Given the description of an element on the screen output the (x, y) to click on. 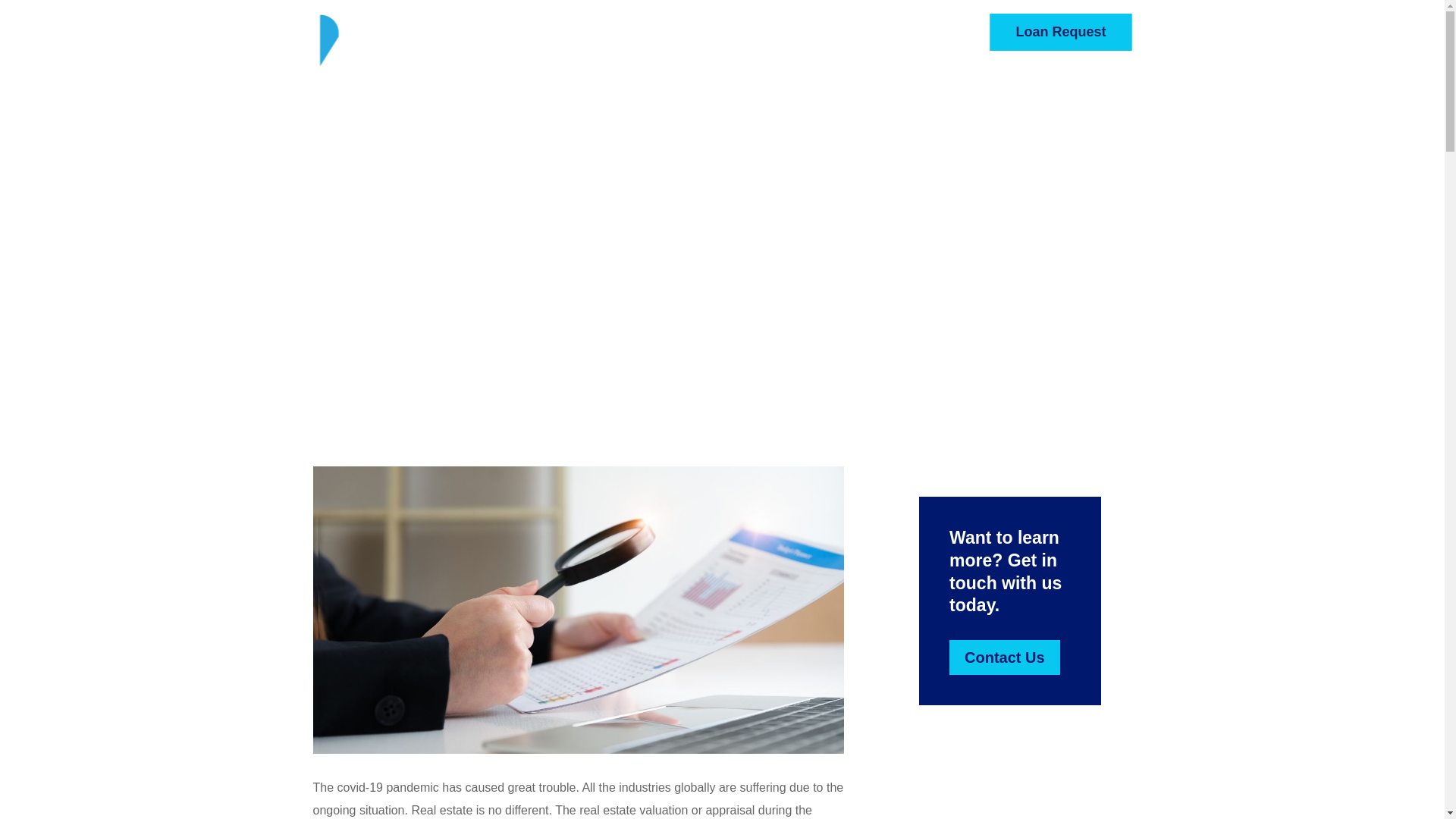
About (695, 87)
Contact Us (1004, 656)
PCI Logo-05 4 (367, 52)
Blog (1042, 87)
Posts by Keith Thomas (729, 277)
Home (646, 87)
Keith Thomas (729, 277)
Testimonials (980, 87)
Loan Request (1060, 31)
Loan Programs (775, 87)
Contact Us (1101, 87)
Recent Closings (887, 87)
